Given the description of an element on the screen output the (x, y) to click on. 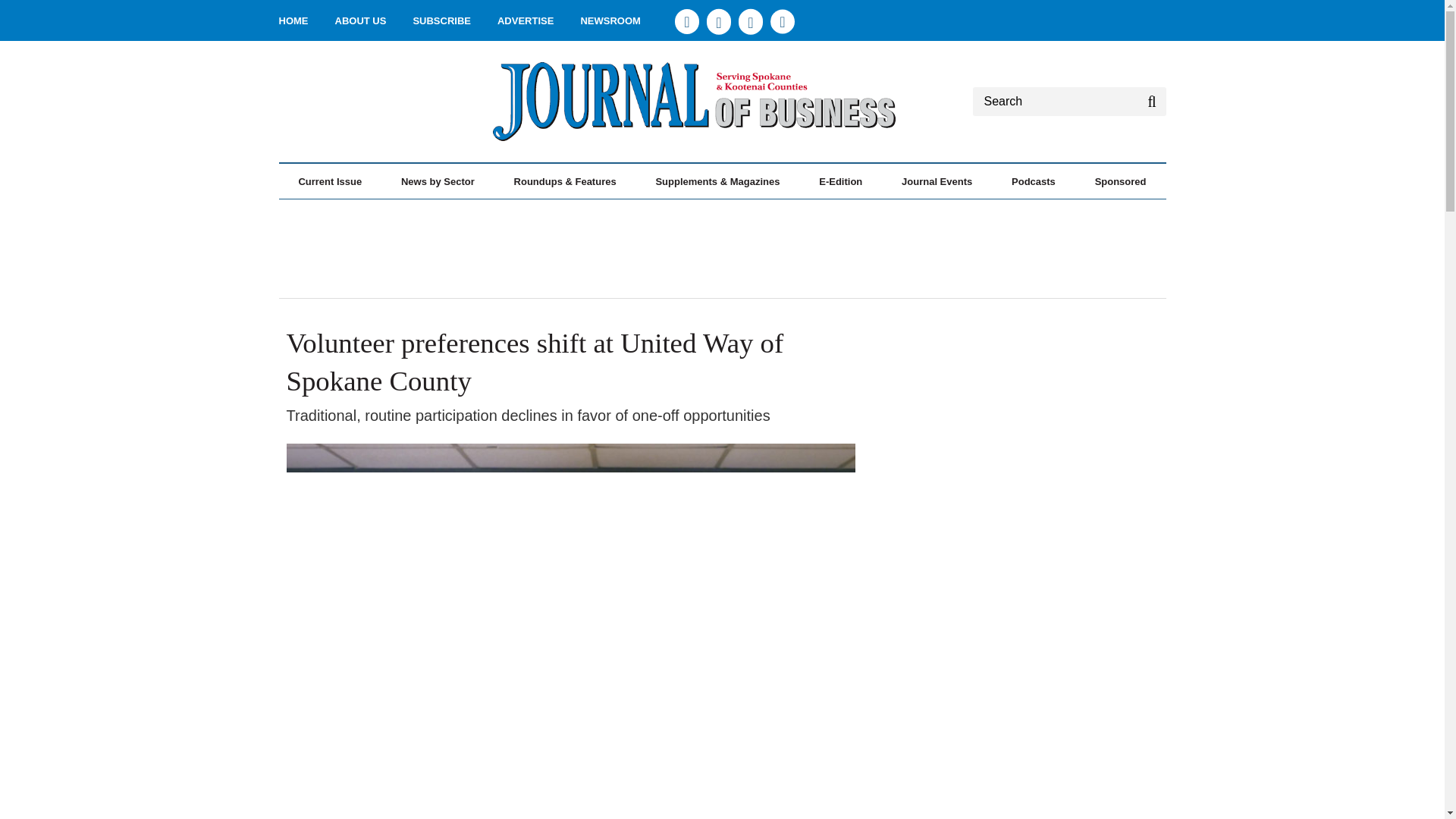
Technology (503, 214)
ABOUT US (360, 20)
Opinion (391, 214)
NEWSROOM (609, 20)
People (596, 214)
Special Report (381, 214)
Calendar (589, 214)
Latest News (373, 214)
Business Licenses (602, 214)
Up Close (387, 214)
